Given the description of an element on the screen output the (x, y) to click on. 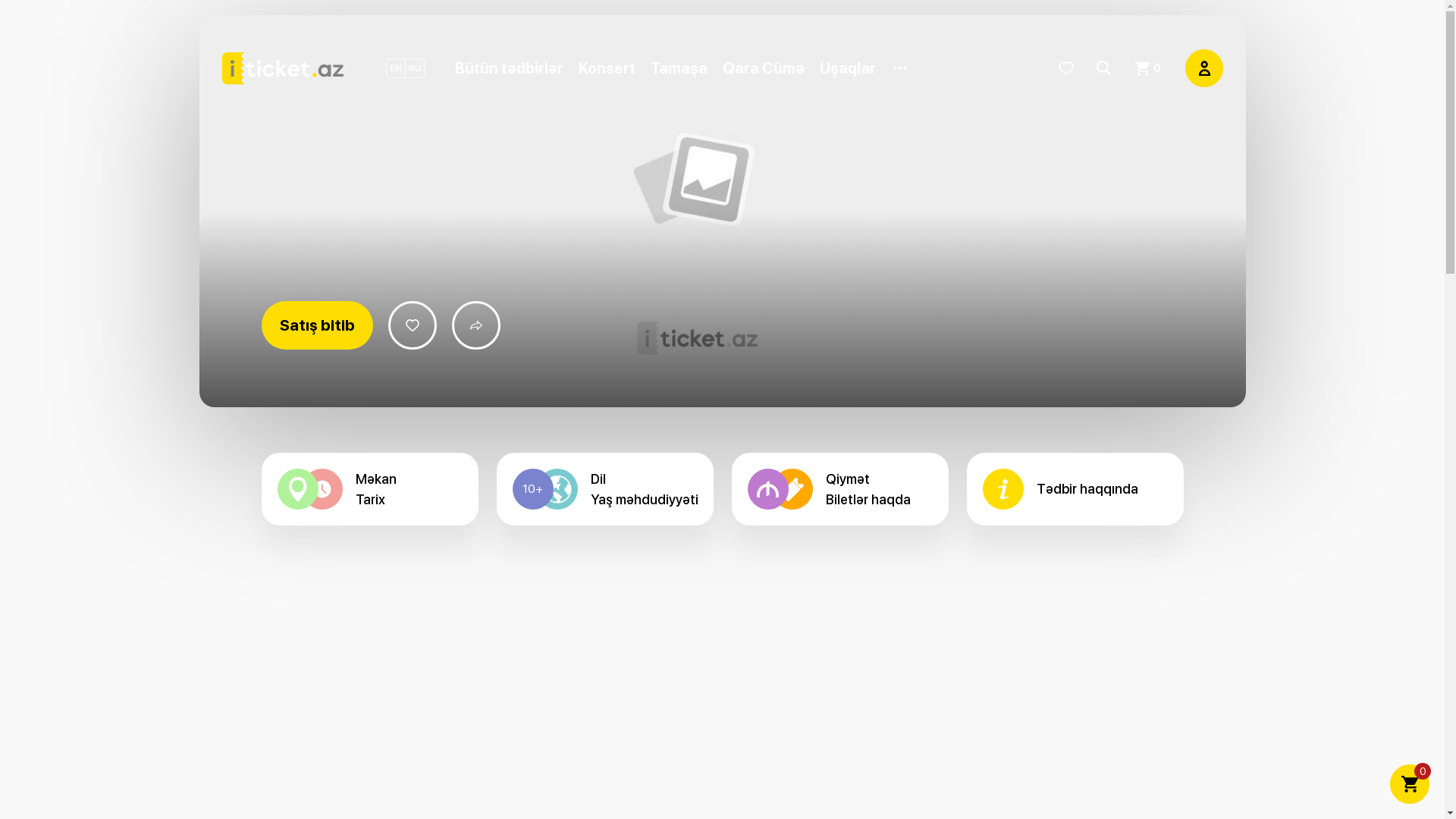
0 Element type: text (1153, 68)
0 Element type: text (1141, 68)
0 Element type: text (1409, 783)
RU Element type: text (413, 68)
EN Element type: text (395, 68)
Konsert Element type: text (613, 67)
